Given the description of an element on the screen output the (x, y) to click on. 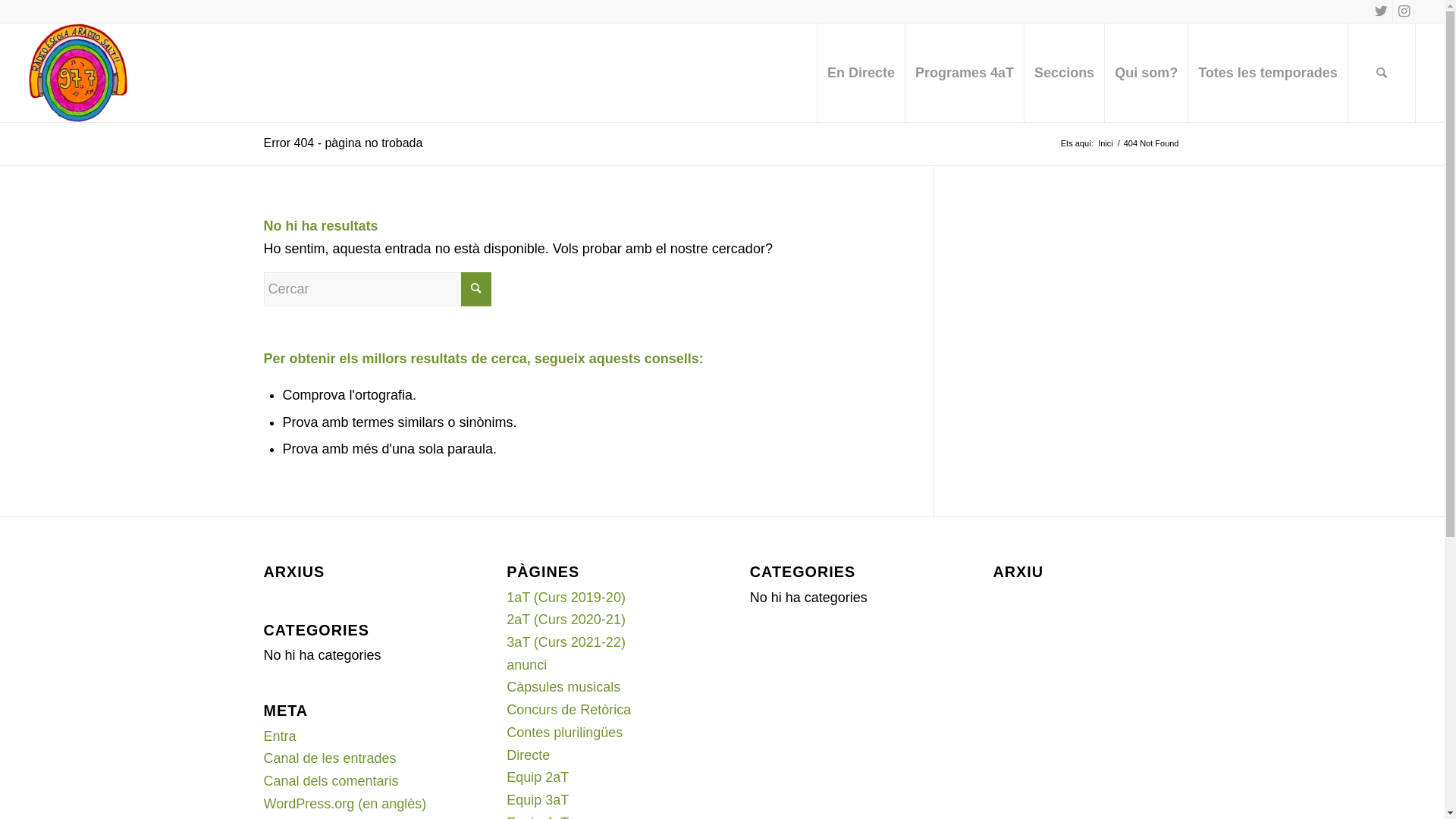
Inici Element type: text (1105, 143)
Canal de les entrades Element type: text (329, 757)
Equip 2aT Element type: text (537, 776)
Programes 4aT Element type: text (963, 72)
Directe Element type: text (527, 754)
Entra Element type: text (279, 735)
Qui som? Element type: text (1145, 72)
2aT (Curs 2020-21) Element type: text (565, 619)
Totes les temporades Element type: text (1267, 72)
En Directe Element type: text (860, 72)
3aT (Curs 2021-22) Element type: text (565, 641)
Instagram Element type: hover (1404, 11)
Twitter Element type: hover (1381, 11)
Equip 3aT Element type: text (537, 799)
anunci Element type: text (526, 664)
1aT (Curs 2019-20) Element type: text (565, 597)
Canal dels comentaris Element type: text (330, 780)
Seccions Element type: text (1063, 72)
